Given the description of an element on the screen output the (x, y) to click on. 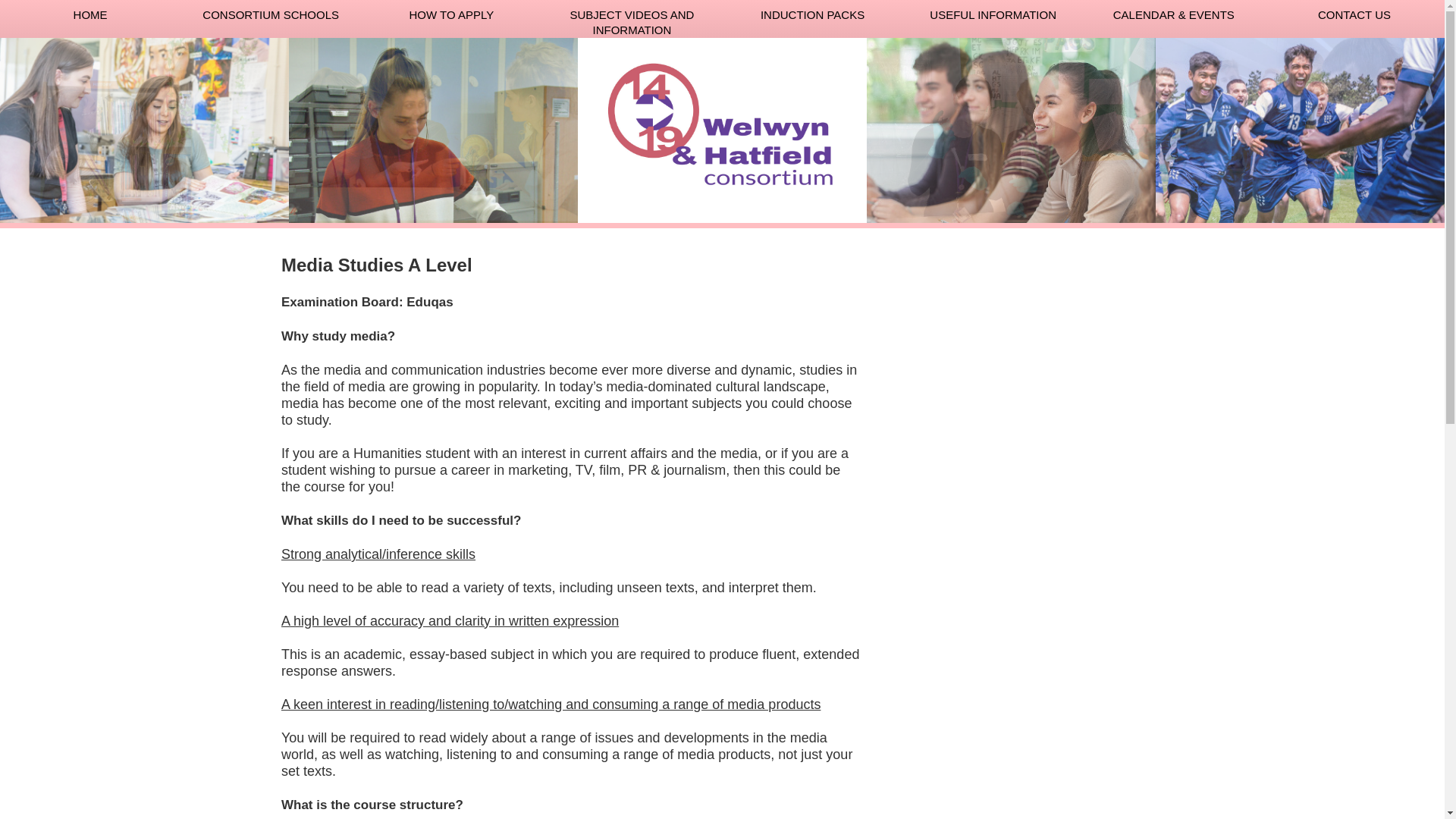
SUBJECT VIDEOS AND INFORMATION (631, 18)
CONSORTIUM SCHOOLS (270, 18)
HOW TO APPLY (451, 18)
HOME (90, 18)
